Given the description of an element on the screen output the (x, y) to click on. 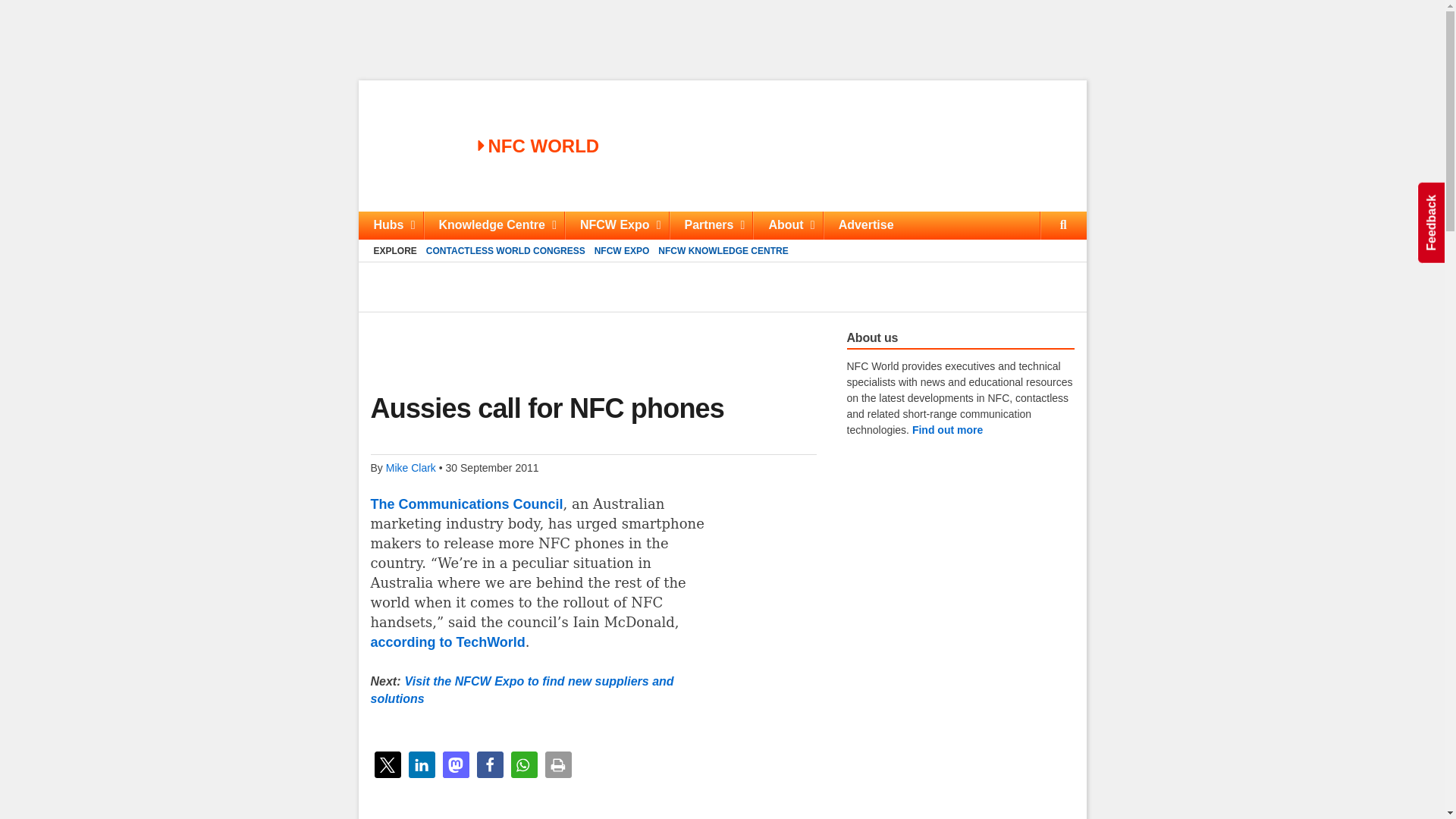
Share on X (387, 764)
Share on LinkedIn (420, 764)
Knowledge Centre (493, 225)
NFCW Expo (616, 225)
Partners (710, 225)
print (557, 764)
Skip to content (722, 225)
30 September 2011, 15:10 BST (524, 764)
